Given the description of an element on the screen output the (x, y) to click on. 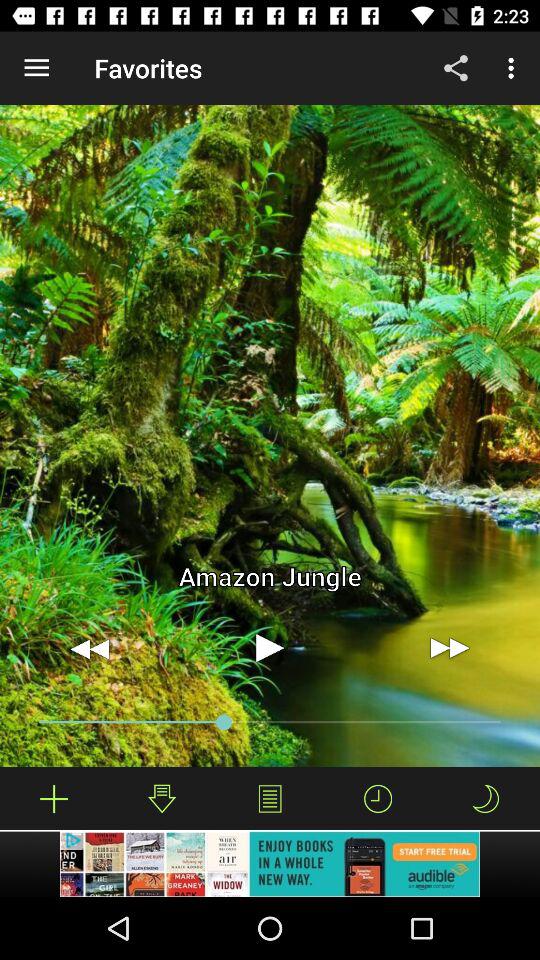
show a sound list (269, 798)
